Given the description of an element on the screen output the (x, y) to click on. 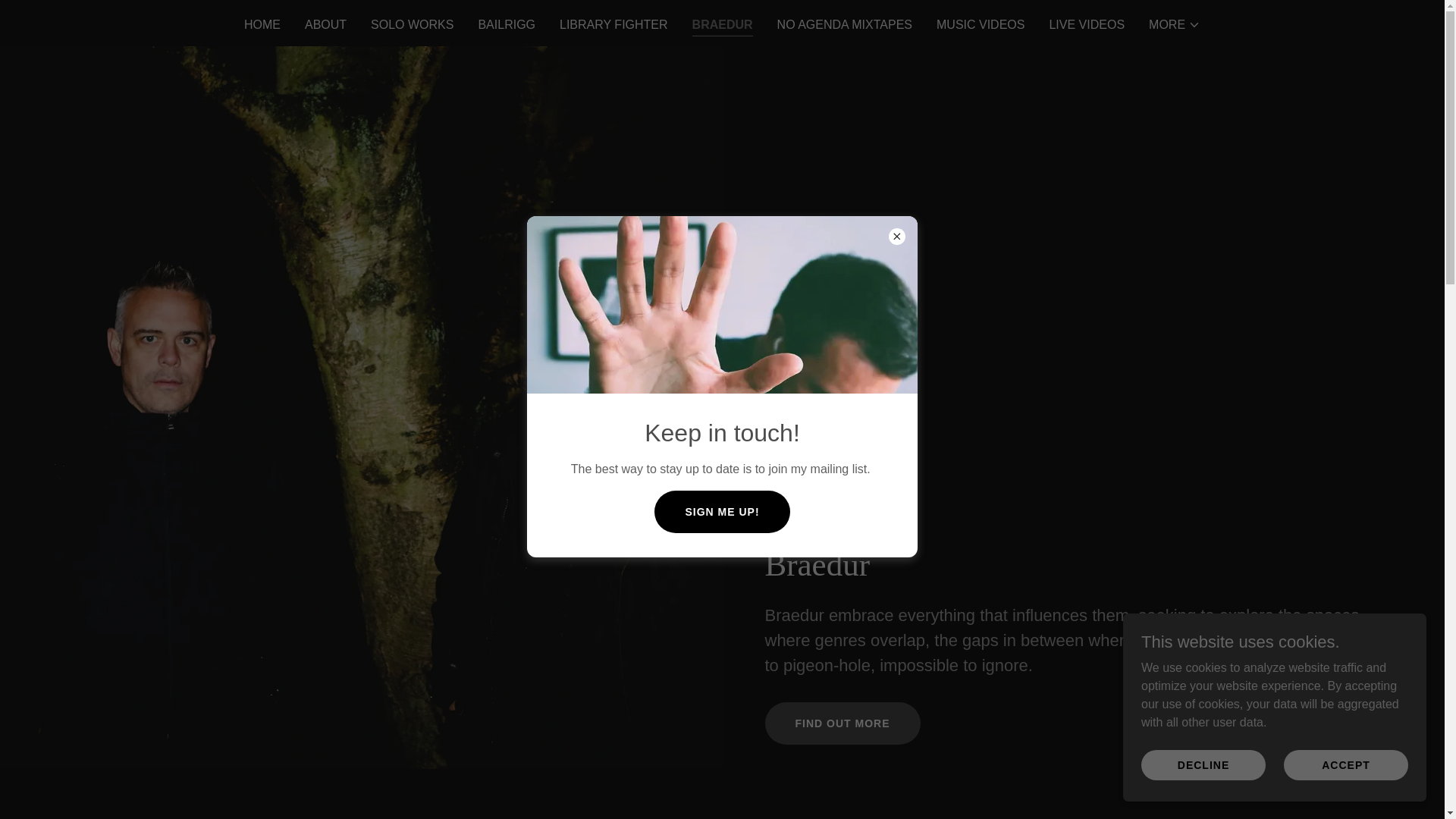
SOLO WORKS (412, 24)
BAILRIGG (506, 24)
BRAEDUR (722, 25)
NO AGENDA MIXTAPES (845, 24)
MORE (1173, 24)
HOME (262, 24)
LIVE VIDEOS (1086, 24)
ABOUT (324, 24)
FIND OUT MORE (842, 722)
MUSIC VIDEOS (980, 24)
LIBRARY FIGHTER (613, 24)
